Given the description of an element on the screen output the (x, y) to click on. 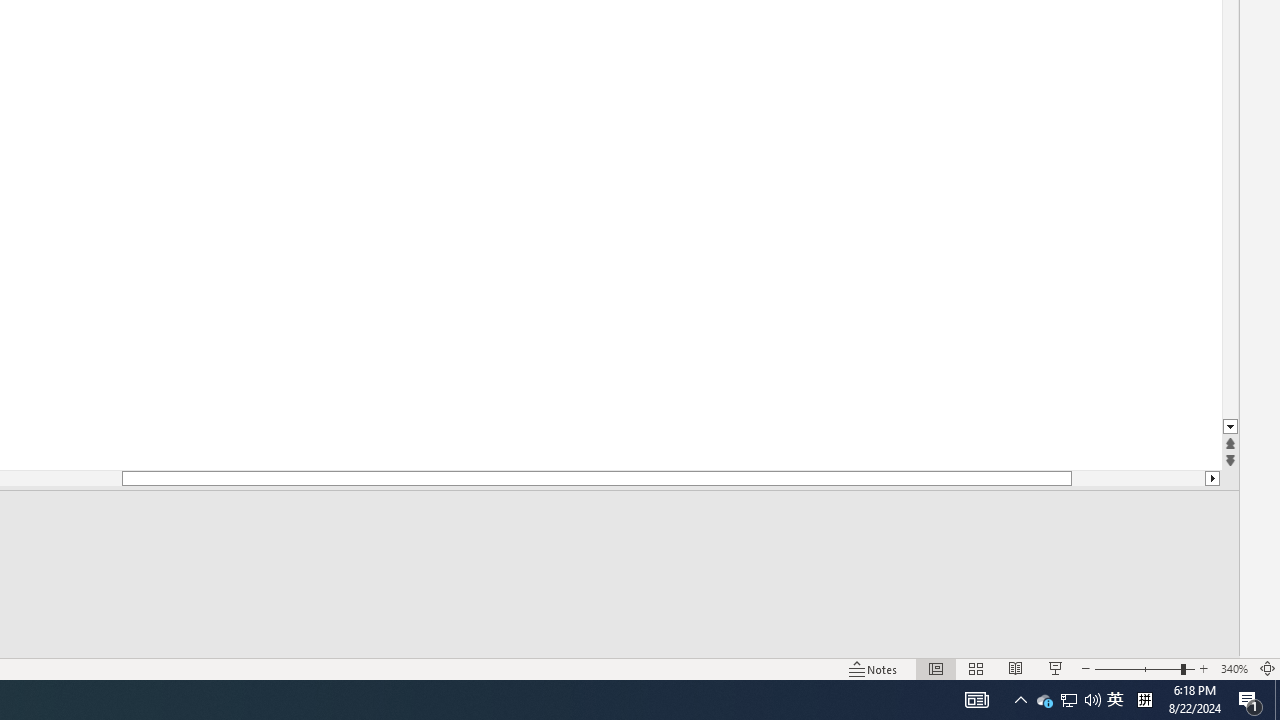
Zoom 340% (1234, 668)
